Given the description of an element on the screen output the (x, y) to click on. 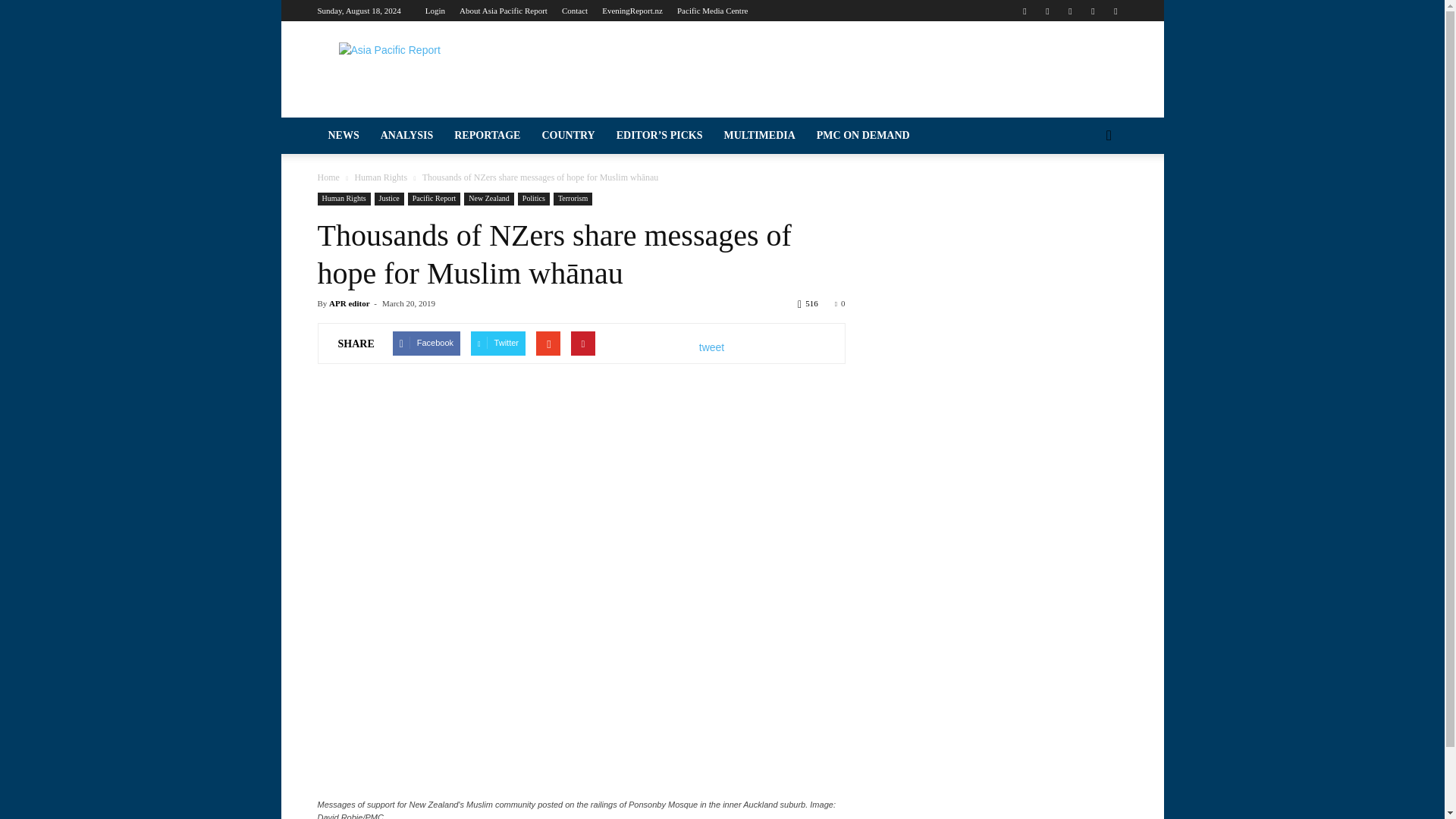
Pacific Report (140, 157)
Papua New Guinea (140, 652)
Rapanui (140, 681)
Timor-Leste (140, 796)
New Caledonia (140, 537)
Cook Islands (140, 364)
New Zealand (140, 566)
Niue (140, 594)
Asia Report (140, 185)
Asia Pacific Report (445, 76)
